Given the description of an element on the screen output the (x, y) to click on. 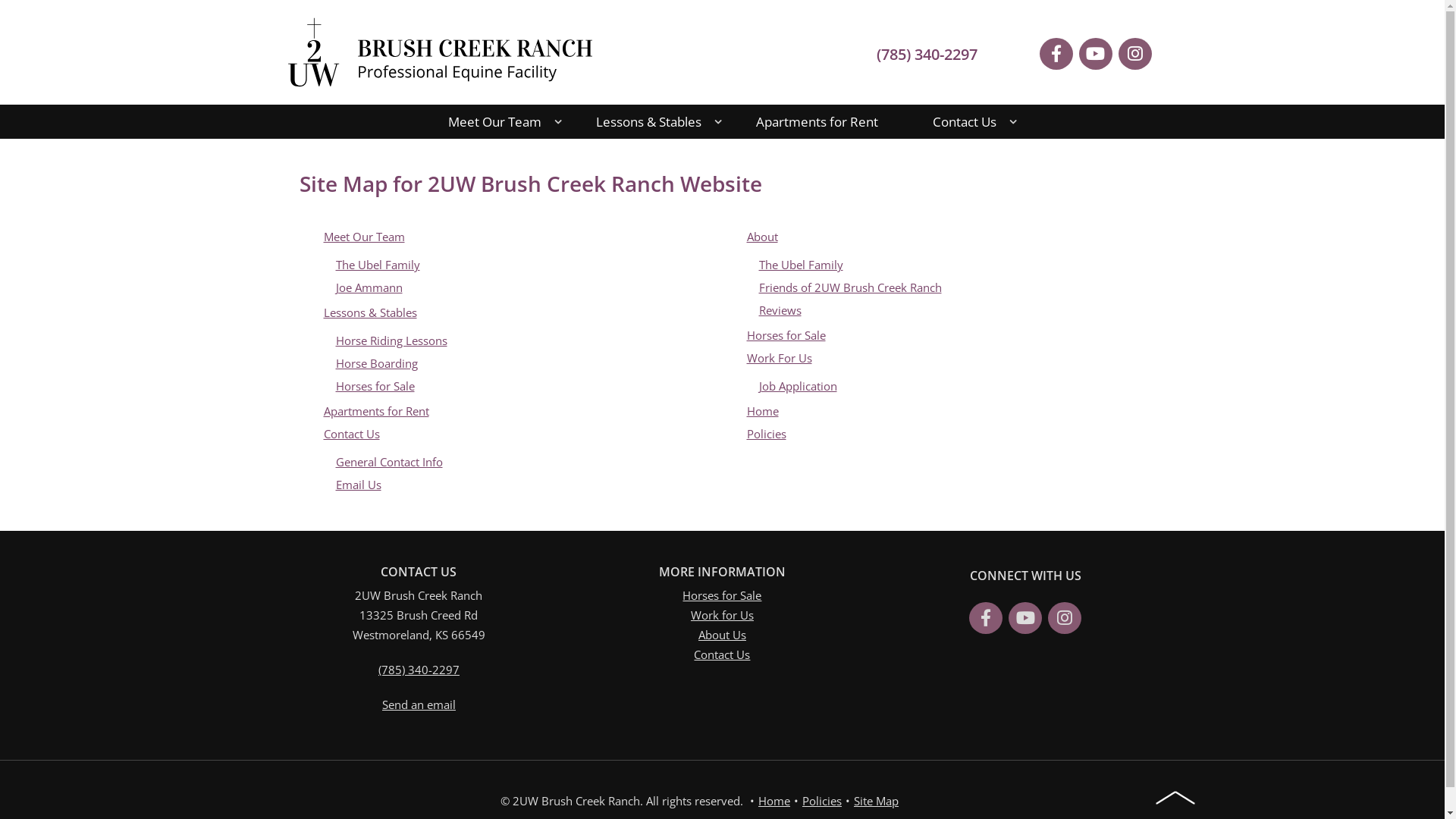
Contact Us Element type: text (351, 433)
Apartments for Rent Element type: text (816, 121)
Apartments for Rent Element type: text (375, 410)
Reviews Element type: text (779, 309)
Policies Element type: text (765, 433)
Email Us Element type: text (357, 484)
Horse Boarding Element type: text (376, 362)
Job Application Element type: text (797, 385)
Horses for Sale Element type: text (721, 594)
(785) 340-2297 Element type: text (418, 669)
Lessons & Stables Element type: text (369, 312)
Meet Our Team Element type: text (363, 236)
Horse Riding Lessons Element type: text (390, 340)
About Element type: text (761, 236)
Contact Us Element type: text (721, 654)
Site Map Element type: text (875, 800)
Home Element type: text (774, 800)
The Ubel Family Element type: text (377, 264)
Contact Us Element type: text (964, 121)
The Ubel Family Element type: text (800, 264)
Policies Element type: text (821, 800)
General Contact Info Element type: text (388, 461)
Friends of 2UW Brush Creek Ranch Element type: text (849, 286)
Work For Us Element type: text (778, 357)
Horses for Sale Element type: text (374, 385)
(785) 340-2297 Element type: text (926, 53)
Work for Us Element type: text (721, 614)
Send an email Element type: text (418, 704)
About Us Element type: text (722, 634)
Joe Ammann Element type: text (368, 286)
Horses for Sale Element type: text (785, 334)
Home Element type: text (762, 410)
